Given the description of an element on the screen output the (x, y) to click on. 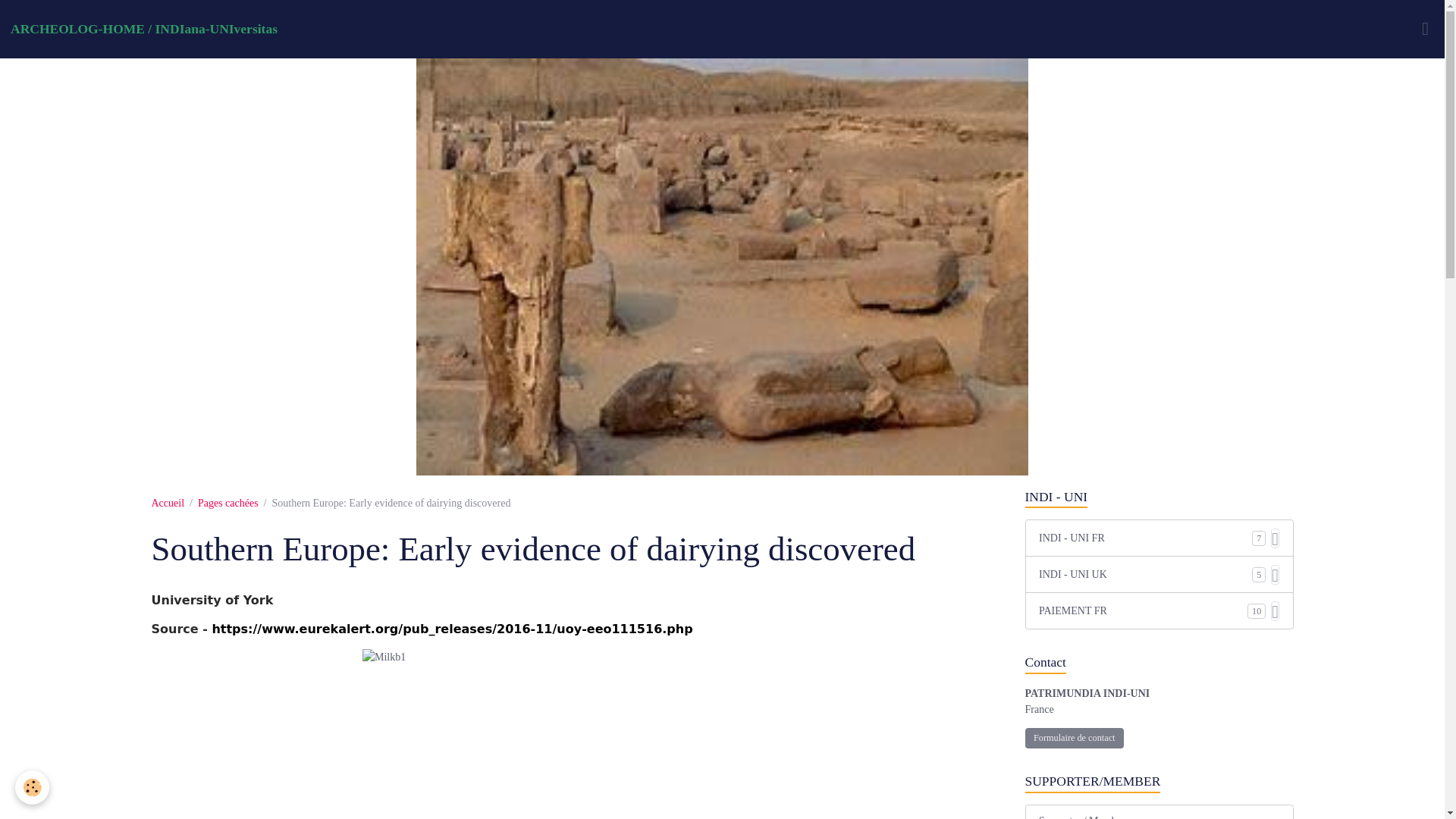
INDI - UNI FR (1145, 537)
INDI - UNI (1159, 496)
INDI - UNI UK (1145, 574)
PAIEMENT FR (1143, 610)
Formulaire de contact (1074, 738)
Accueil (167, 502)
